Given the description of an element on the screen output the (x, y) to click on. 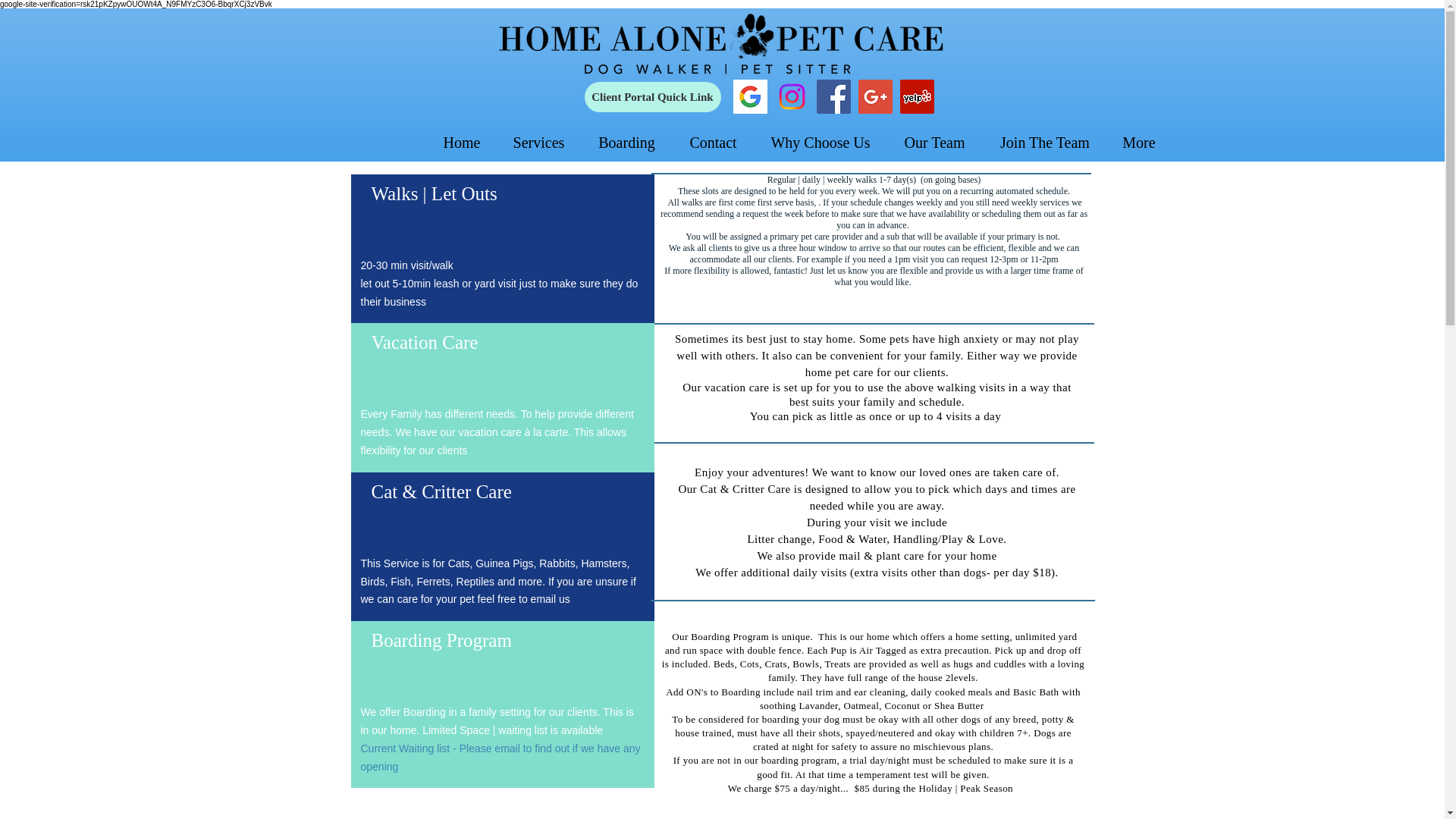
Our Team (934, 142)
Client Portal Quick Link (651, 96)
Why Choose Us (820, 142)
Contact (712, 142)
Services (538, 142)
Join The Team (1045, 142)
Home (462, 142)
Boarding (625, 142)
